Given the description of an element on the screen output the (x, y) to click on. 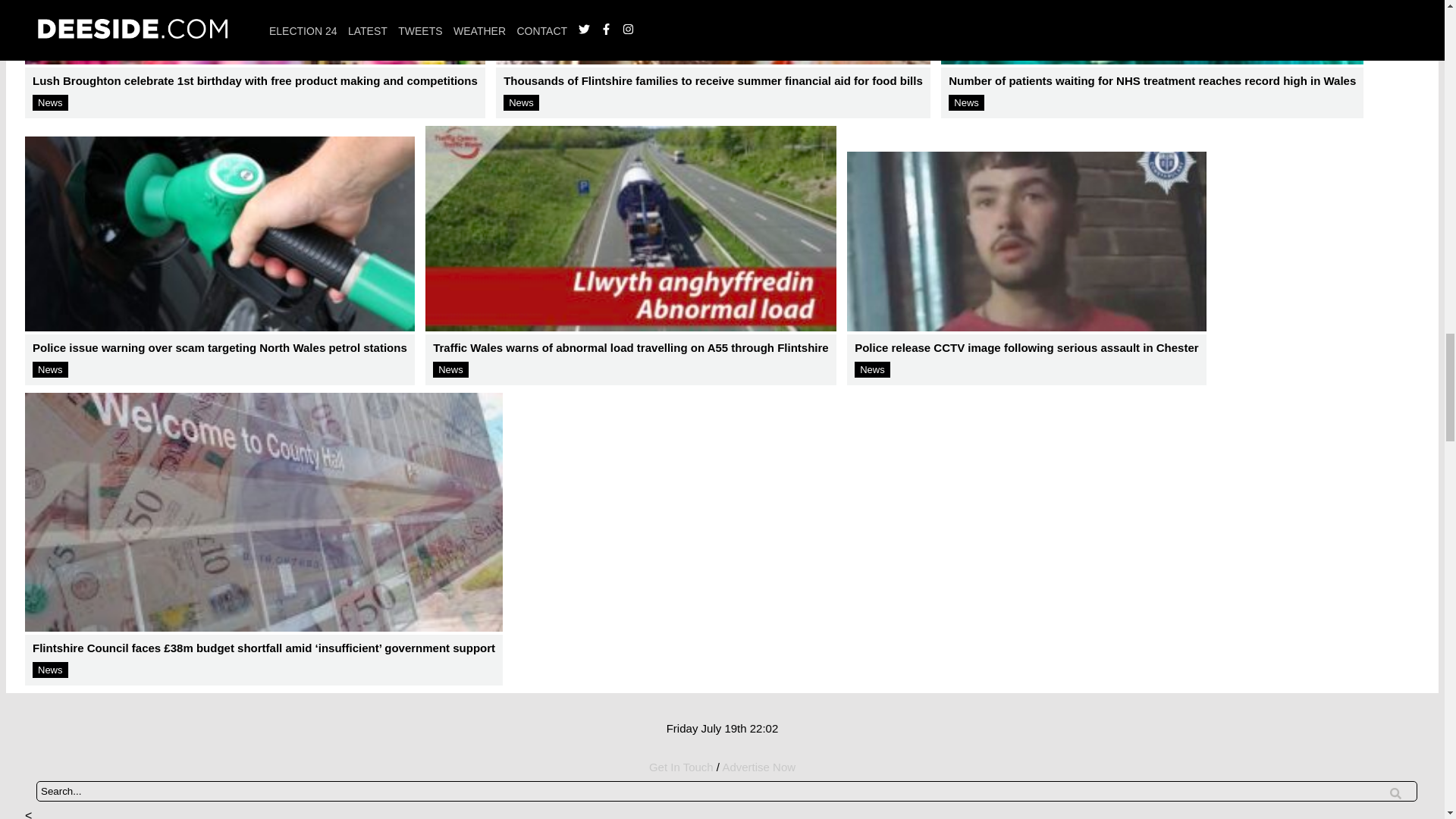
Advertise Now (758, 766)
Get In Touch (681, 766)
